Given the description of an element on the screen output the (x, y) to click on. 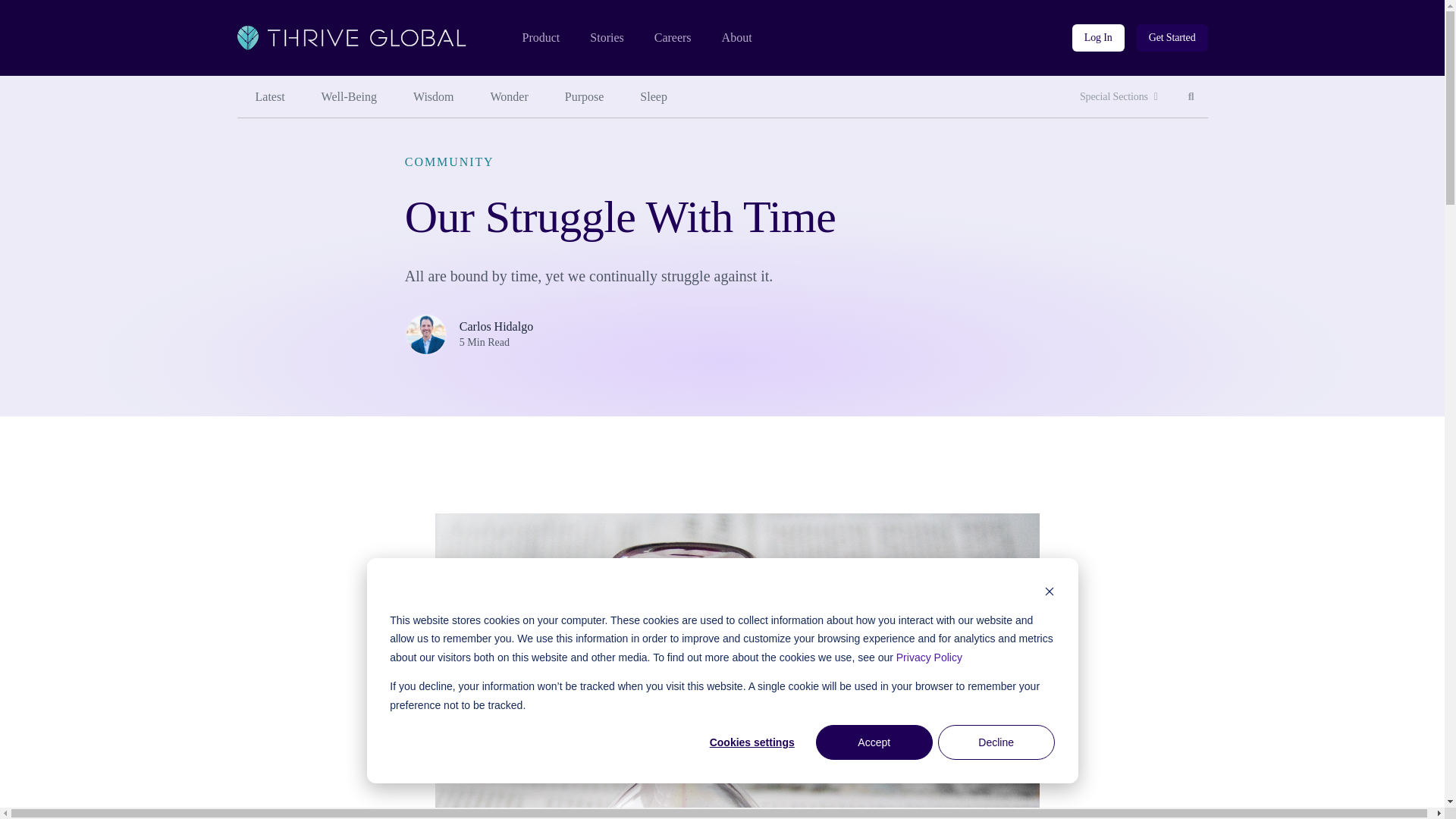
Log In (1097, 37)
Stories (606, 37)
Latest (268, 96)
Product (540, 37)
Get Started (1172, 37)
Wisdom (1191, 97)
Special Sections (432, 96)
Well-Being (1118, 97)
Purpose (348, 96)
